Given the description of an element on the screen output the (x, y) to click on. 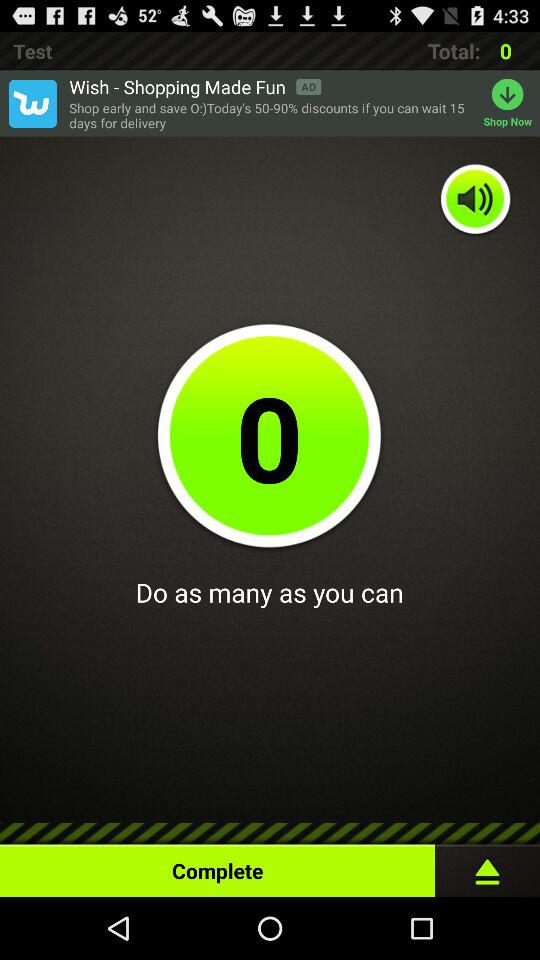
click wish shopping made app (195, 86)
